Given the description of an element on the screen output the (x, y) to click on. 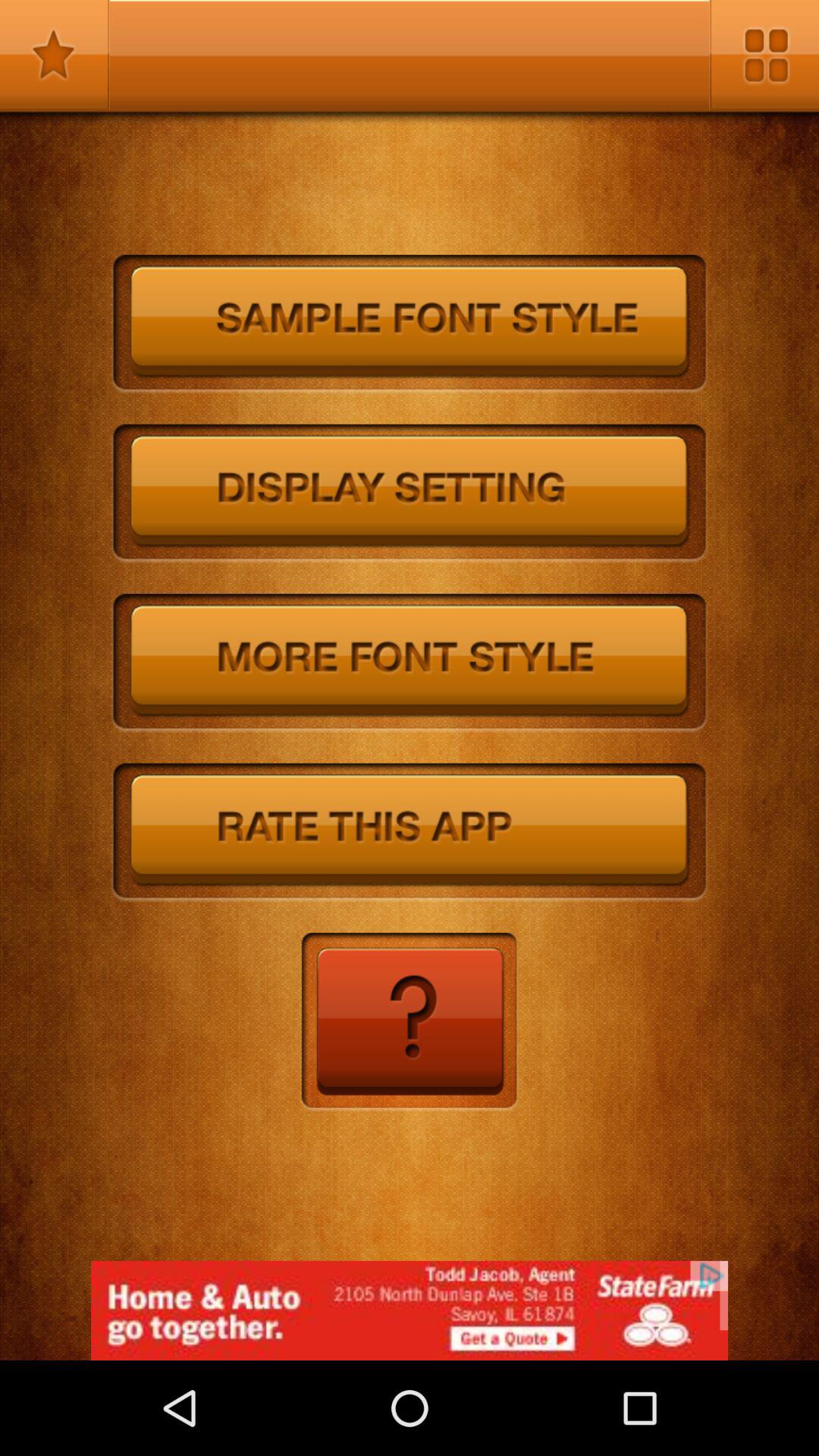
select font style (409, 663)
